Given the description of an element on the screen output the (x, y) to click on. 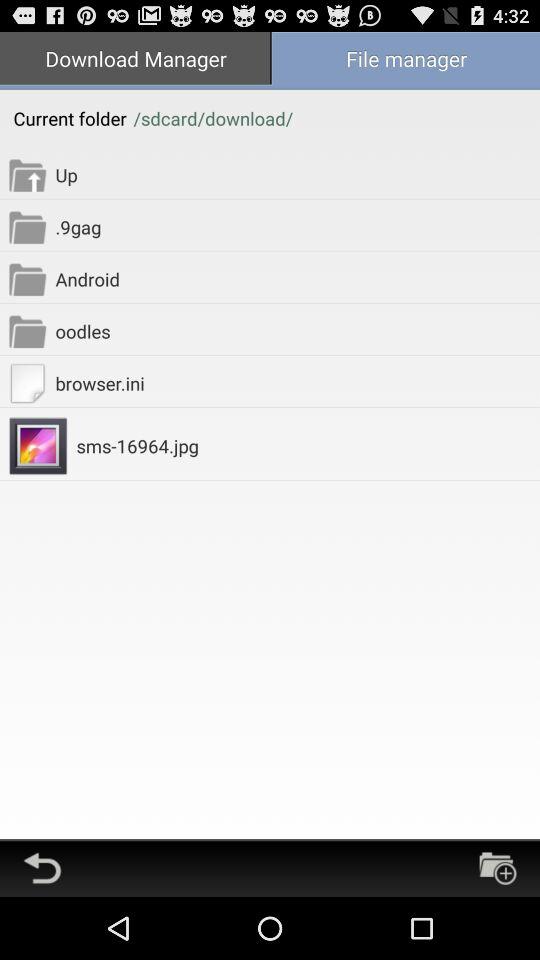
choose the icon next to the file manager app (135, 60)
